Given the description of an element on the screen output the (x, y) to click on. 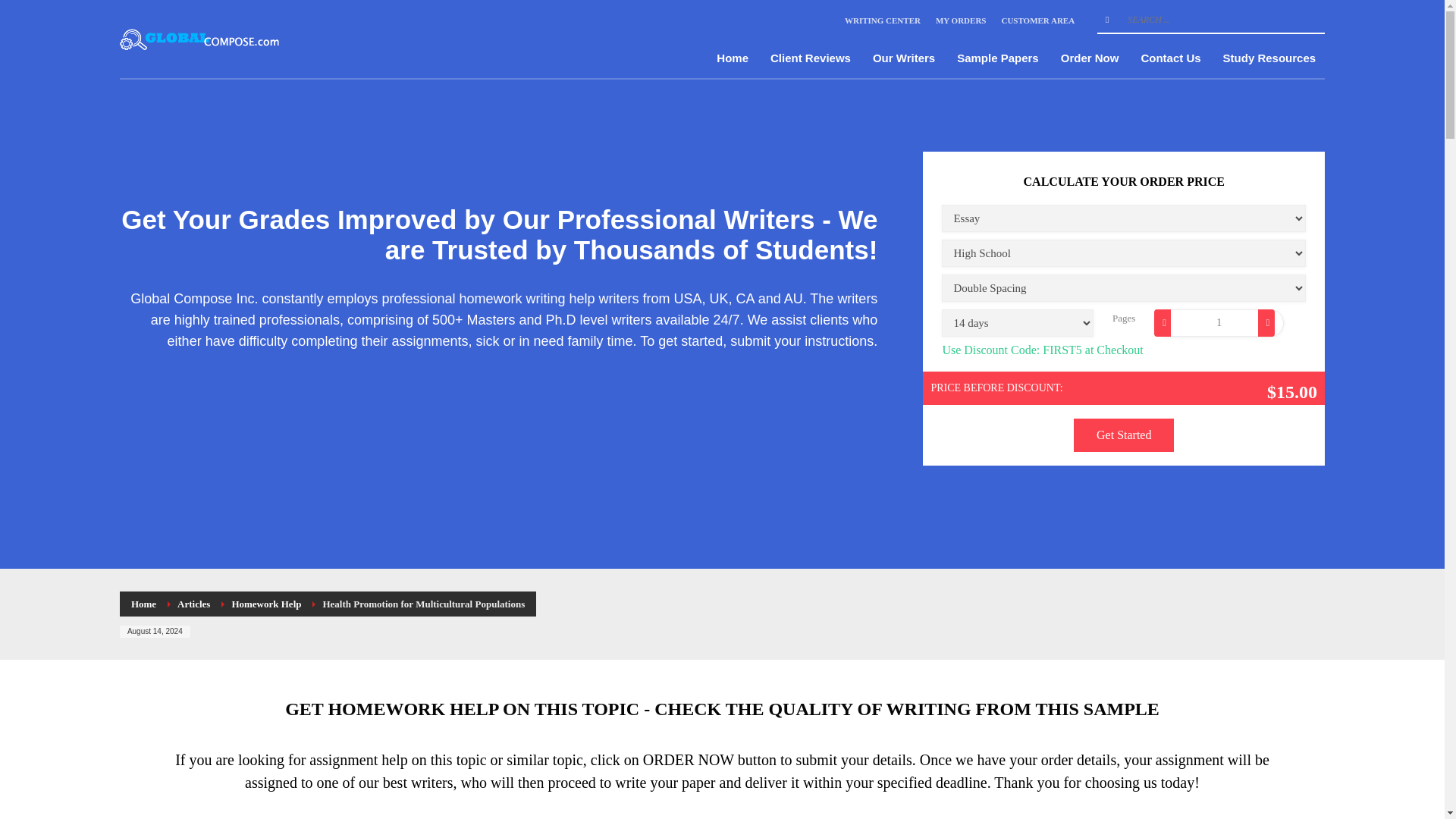
Study Resources (1269, 57)
Our Writers (903, 57)
Order Now (1089, 57)
MY ORDERS (961, 20)
CUSTOMER AREA (1037, 20)
Sample Papers (997, 57)
Home (732, 57)
Contact Us (1170, 57)
Get Started (1123, 435)
Home (143, 603)
